Given the description of an element on the screen output the (x, y) to click on. 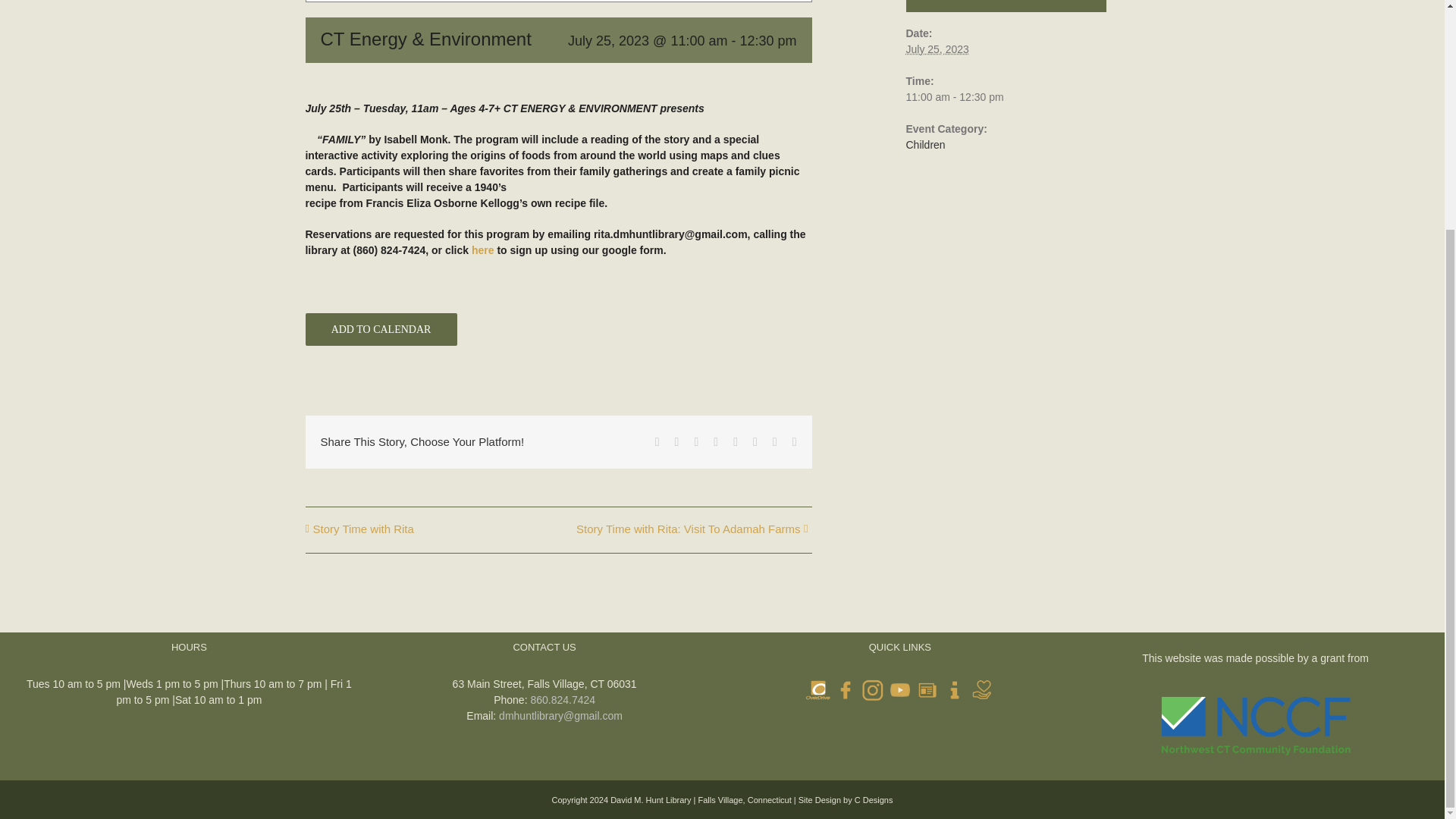
Download from Overdrive (818, 689)
2023-07-25 (936, 48)
Find us on Facebook (845, 689)
2023-07-25 (1005, 97)
Find us on Facebook (844, 689)
Download from Overdrive (817, 689)
